Given the description of an element on the screen output the (x, y) to click on. 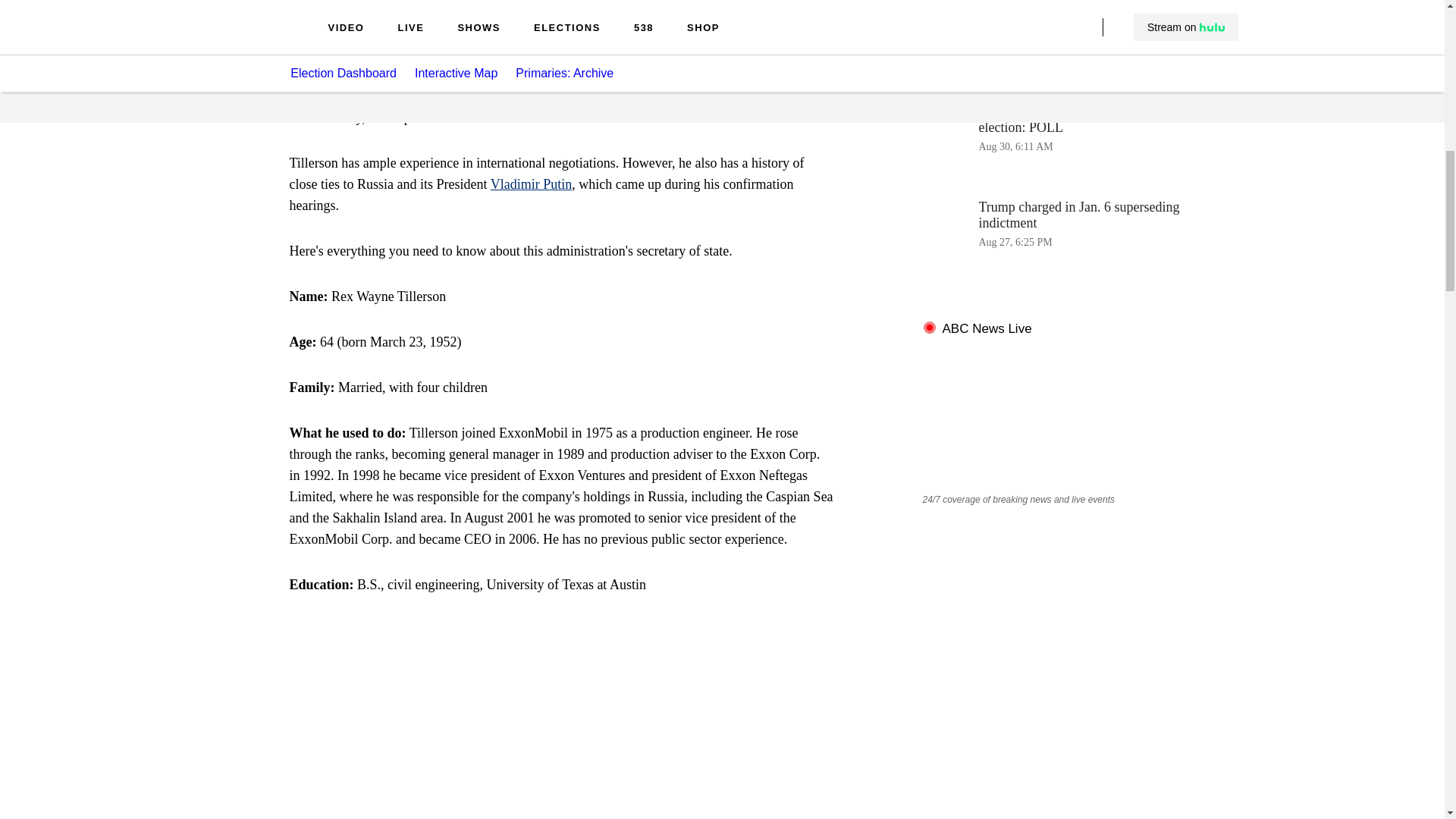
Vladimir Putin (531, 183)
